Given the description of an element on the screen output the (x, y) to click on. 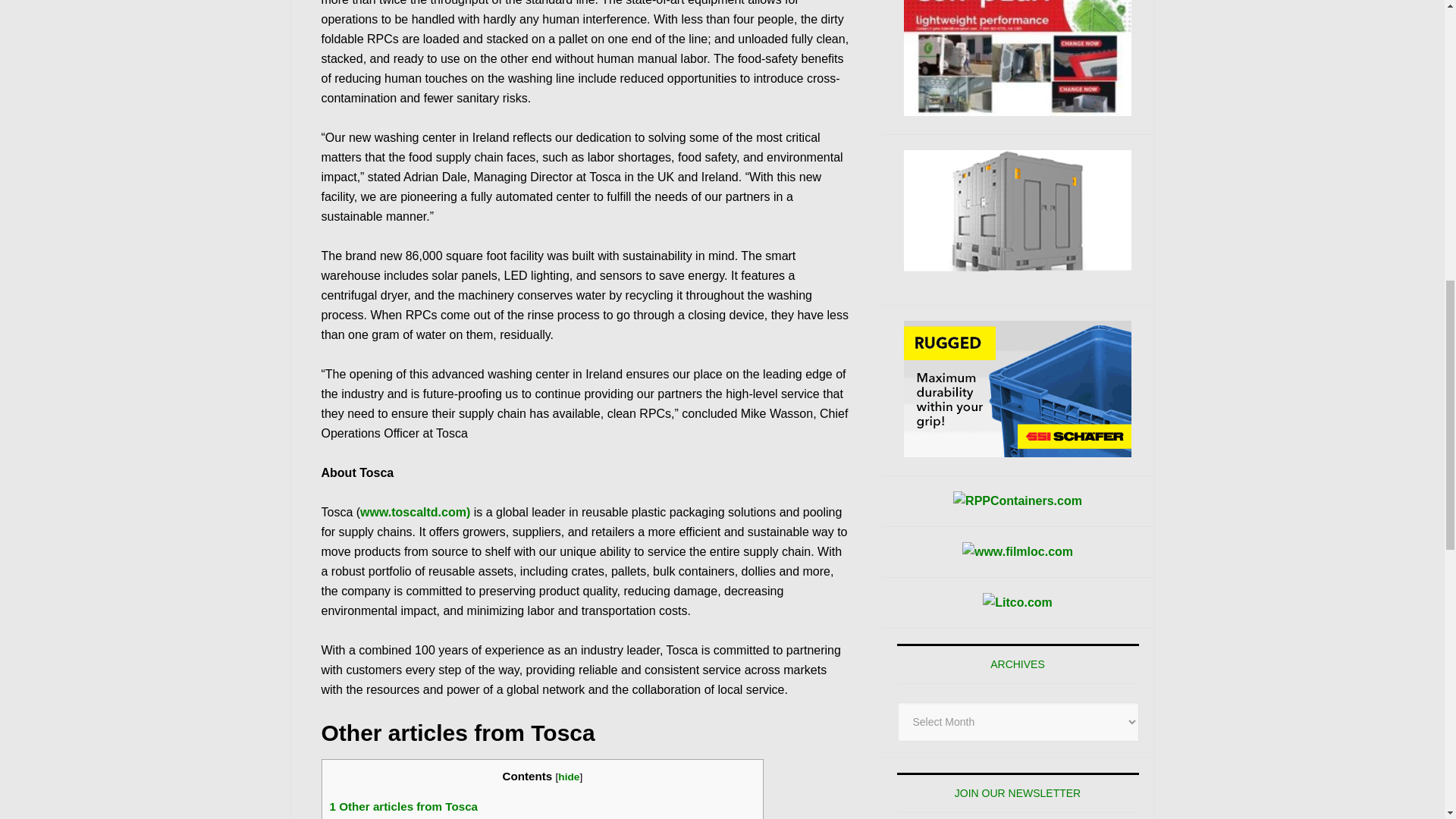
1 Other articles from Tosca (403, 806)
hide (568, 776)
Schaefer (1017, 389)
RPPContainers.com (1017, 501)
www.filmloc.com (1017, 551)
CONPearl (1017, 58)
